Given the description of an element on the screen output the (x, y) to click on. 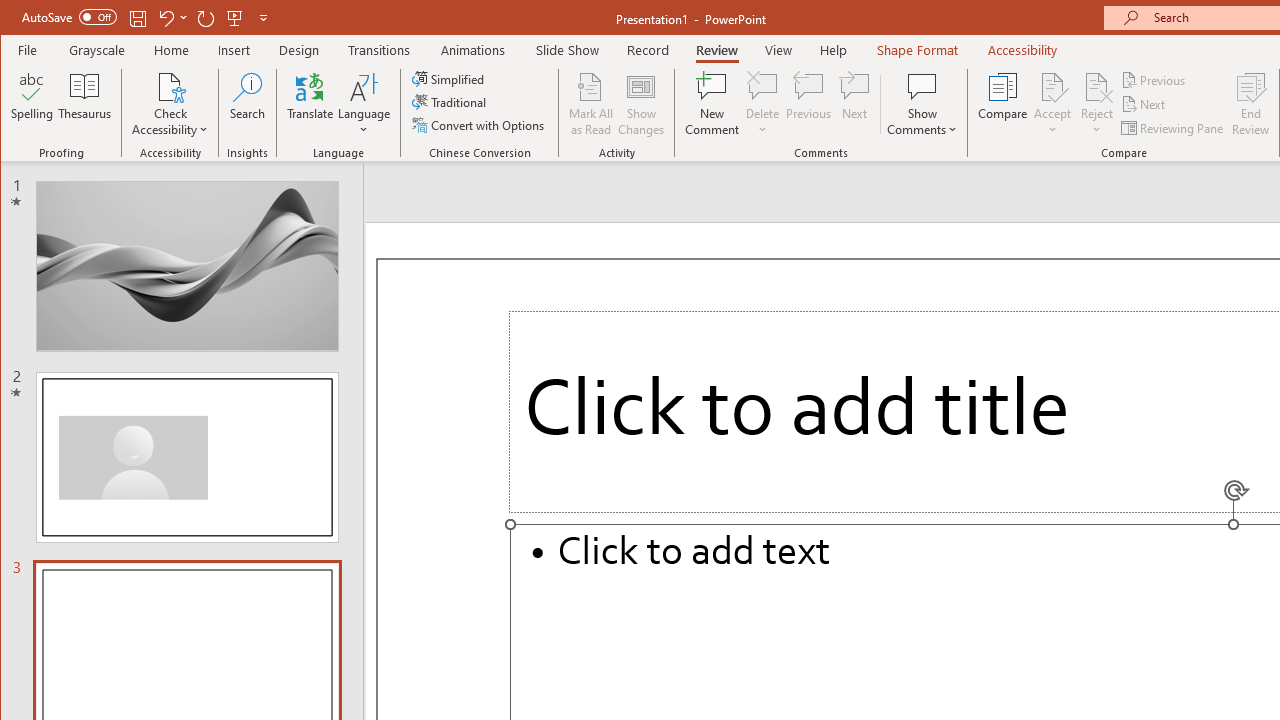
End Review (1251, 104)
Compare (1002, 104)
Previous (1154, 80)
Reject (1096, 104)
